Given the description of an element on the screen output the (x, y) to click on. 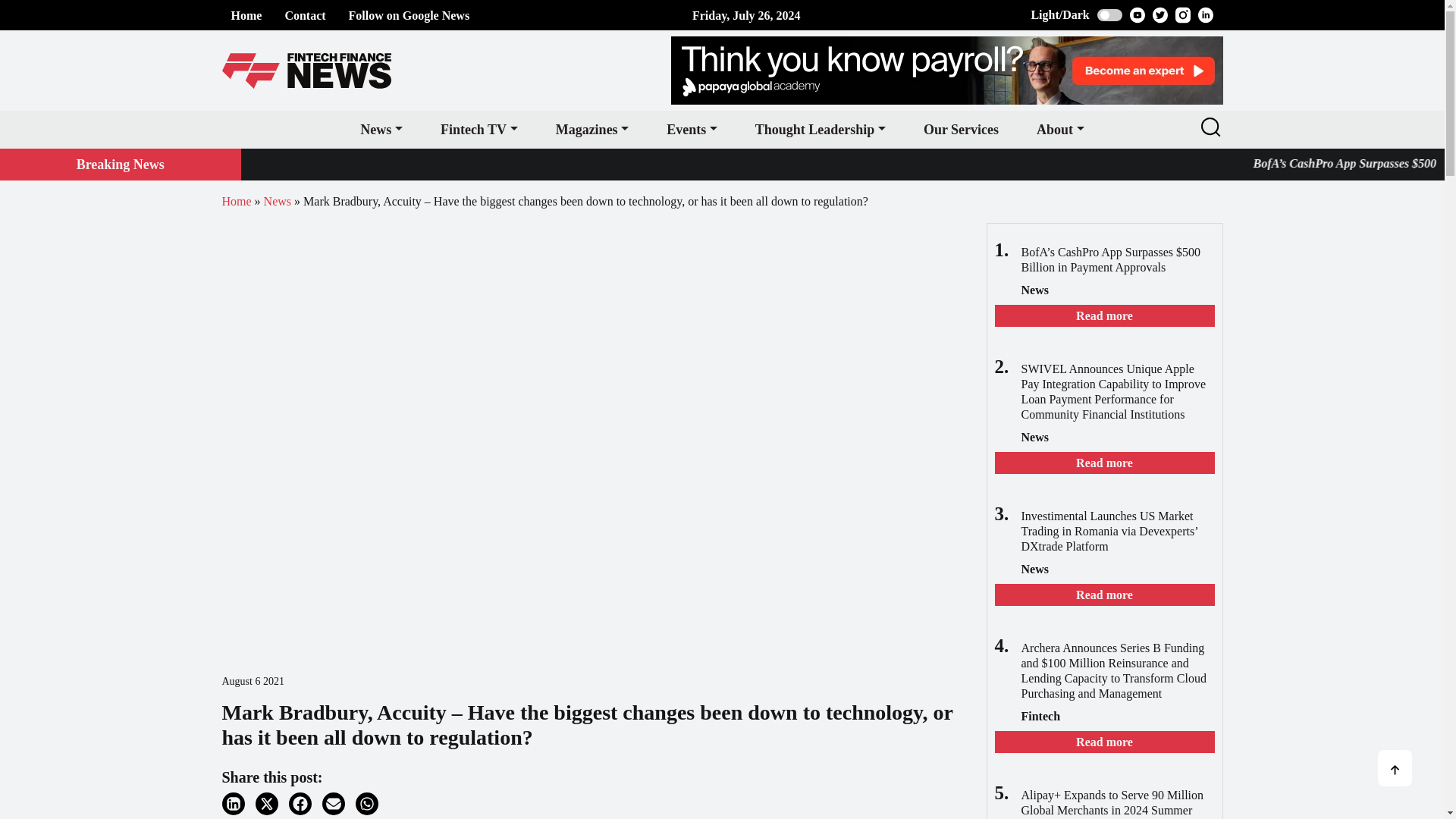
Fintech TV (479, 129)
Contact (303, 15)
News (381, 129)
Magazines (592, 129)
Follow on Google News (409, 15)
Fintech TV (479, 129)
Home (246, 15)
Events (691, 129)
